Given the description of an element on the screen output the (x, y) to click on. 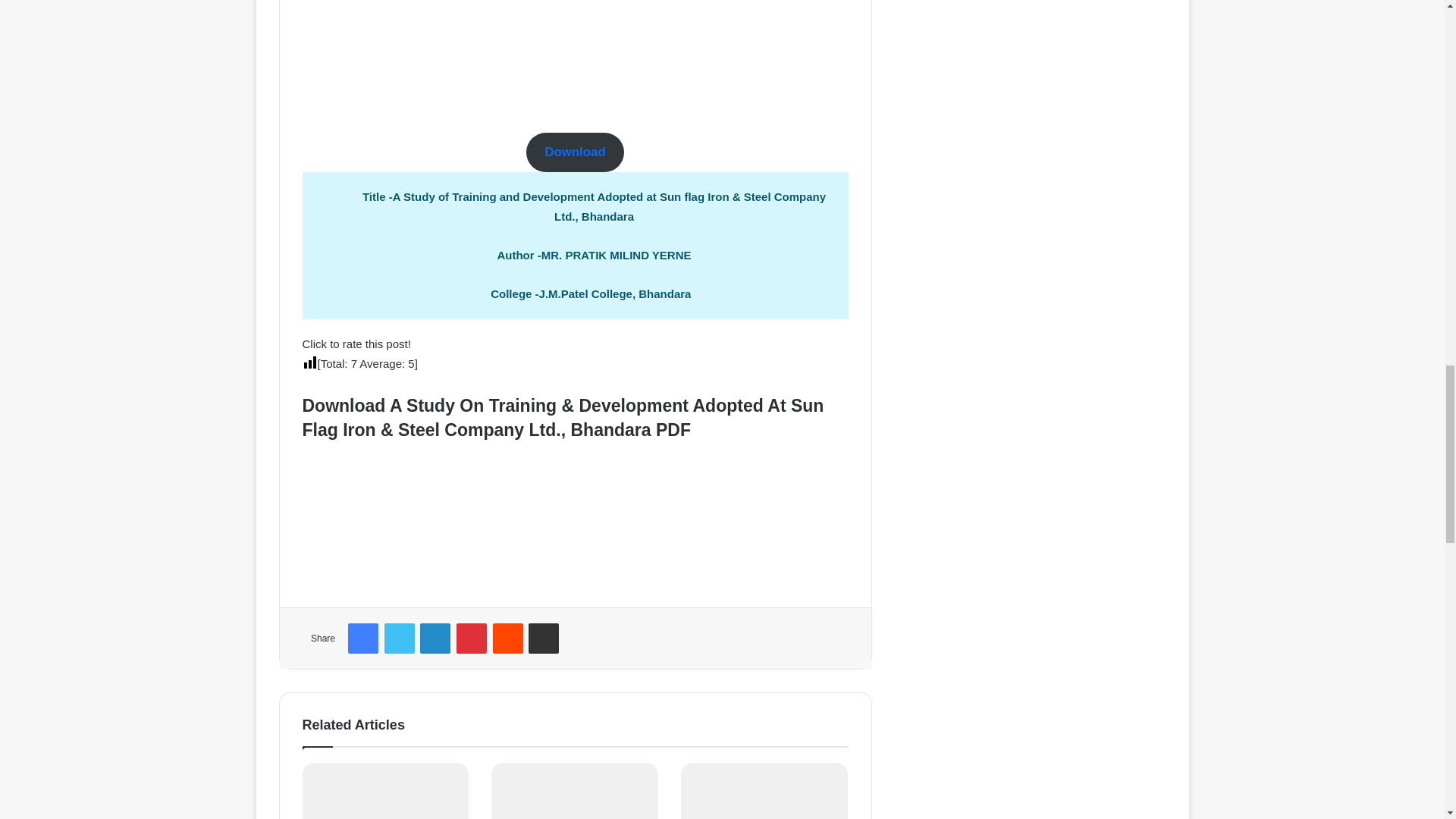
LinkedIn (434, 638)
Facebook (362, 638)
Share via Email (543, 638)
Reddit (507, 638)
Twitter (399, 638)
Pinterest (471, 638)
